Given the description of an element on the screen output the (x, y) to click on. 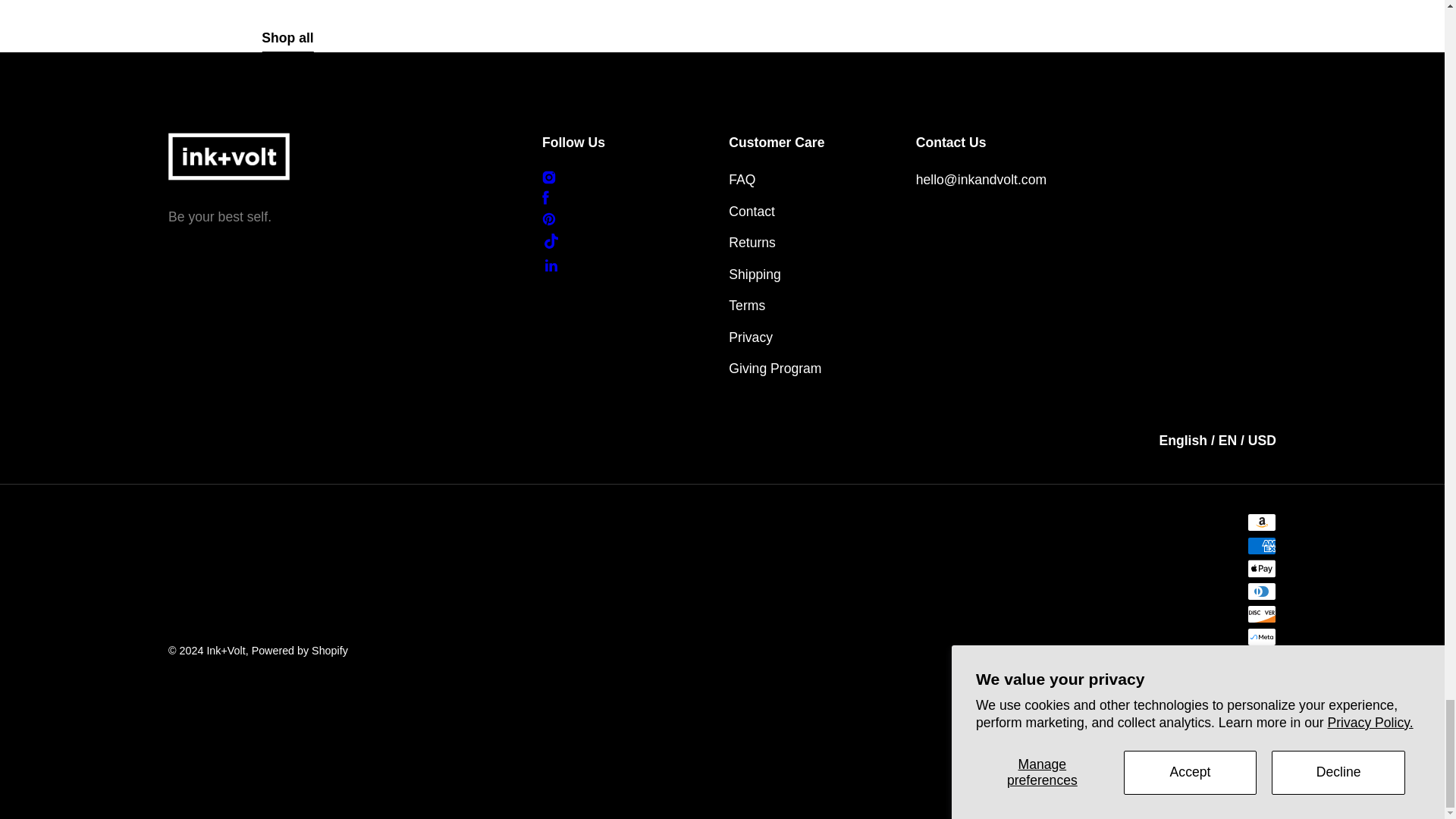
Google Pay (1261, 659)
Discover (1261, 614)
Meta Pay (1261, 637)
Diners Club (1261, 591)
Apple Pay (1261, 568)
American Express (1261, 546)
Amazon (1261, 522)
Ink and Volt Logo (228, 155)
